Given the description of an element on the screen output the (x, y) to click on. 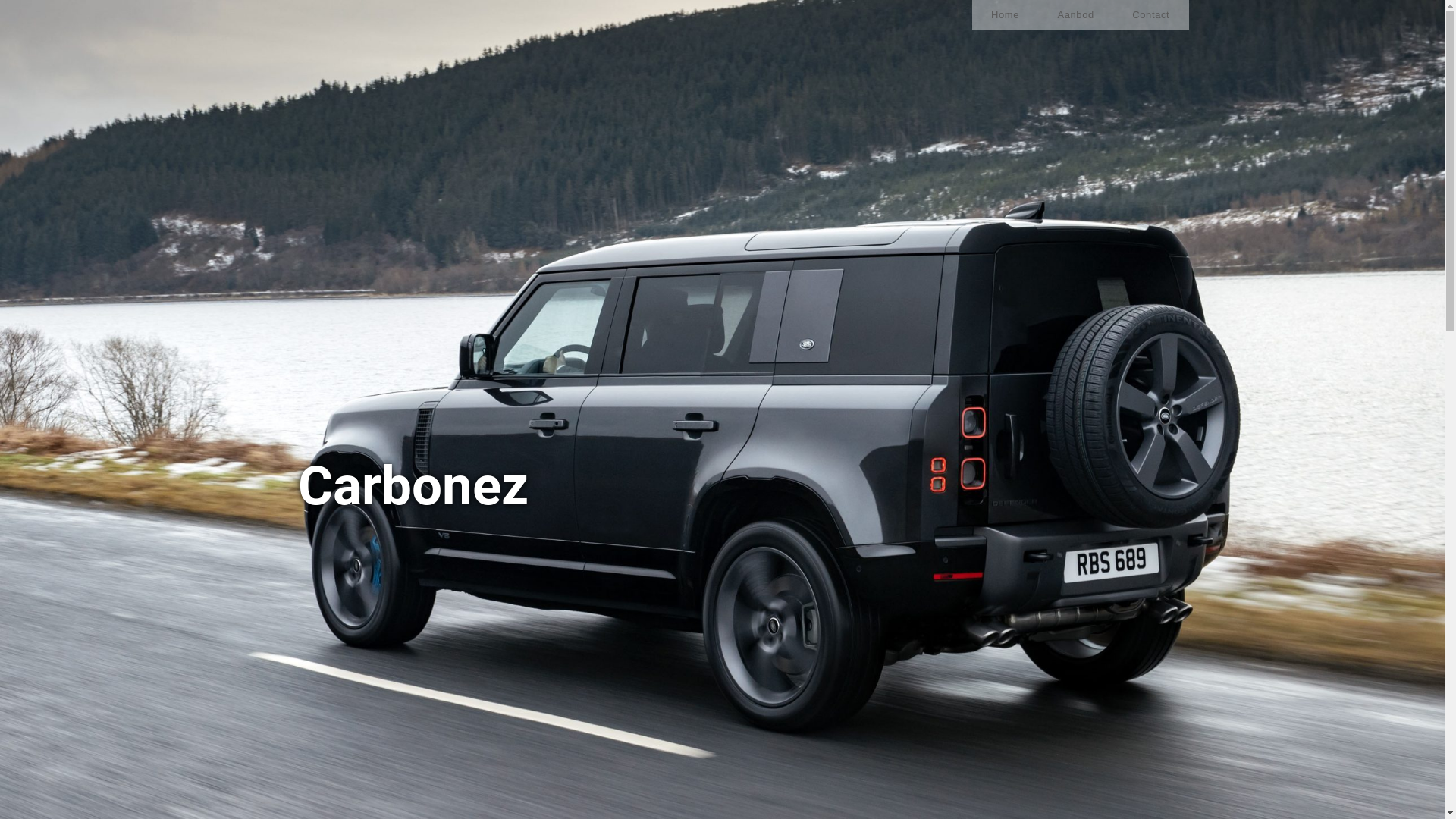
Home Element type: text (1005, 14)
Aanbod Element type: text (1075, 14)
Contact Element type: text (1150, 14)
